Given the description of an element on the screen output the (x, y) to click on. 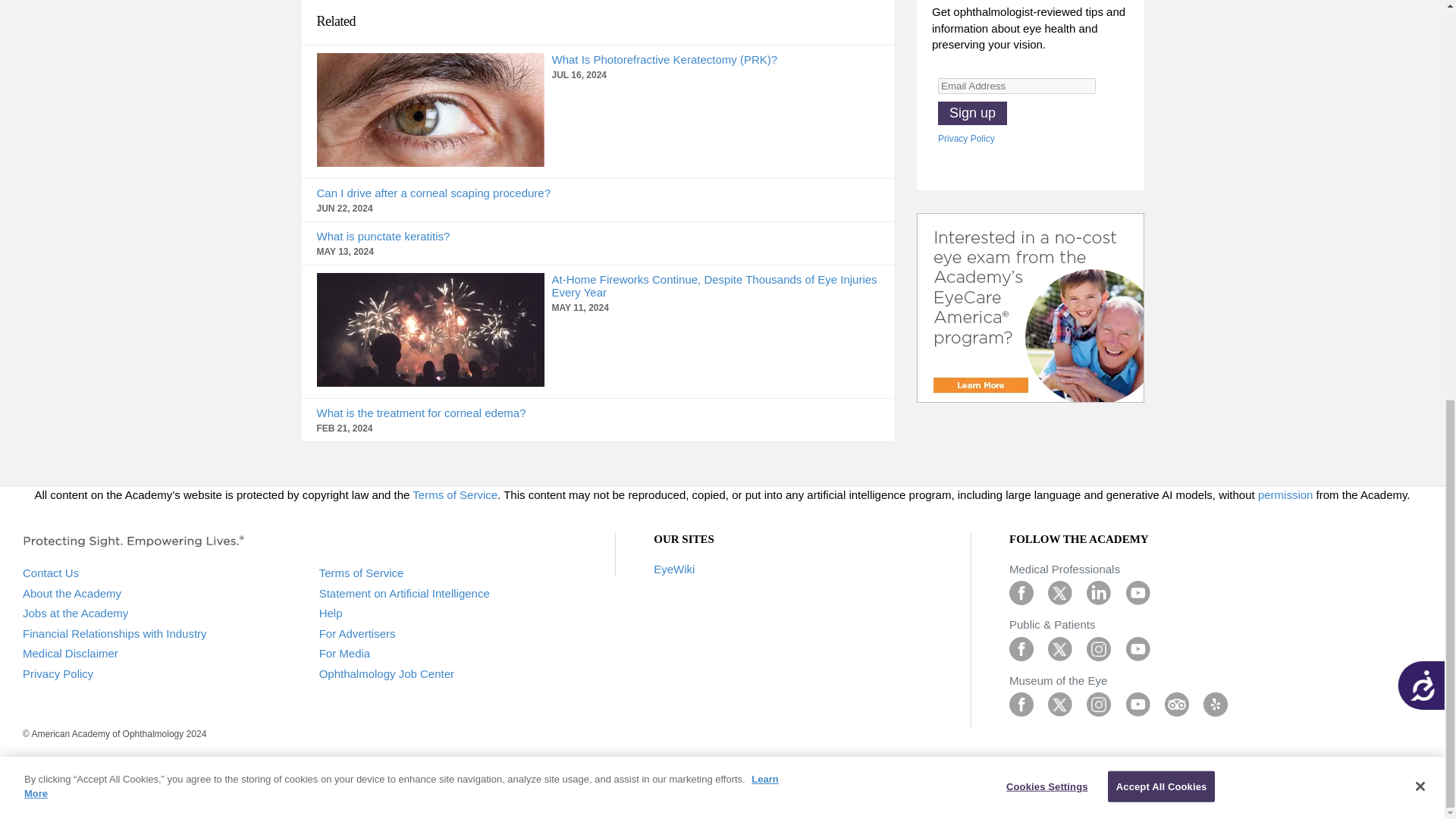
YouTube (1137, 591)
Twitter (1059, 703)
Trip Advisor (1176, 703)
Facebook (1021, 591)
Twitter (1059, 647)
Yelp (1215, 703)
Instagram (1098, 703)
Facebook (1021, 703)
YouTube (1137, 703)
YouTube (1137, 647)
Twitter (1059, 591)
Facebook (1021, 647)
Instagram (1098, 647)
4976-eca-site-ad-f-300x250-20210202.png (1030, 307)
LinkedIn (1098, 591)
